Given the description of an element on the screen output the (x, y) to click on. 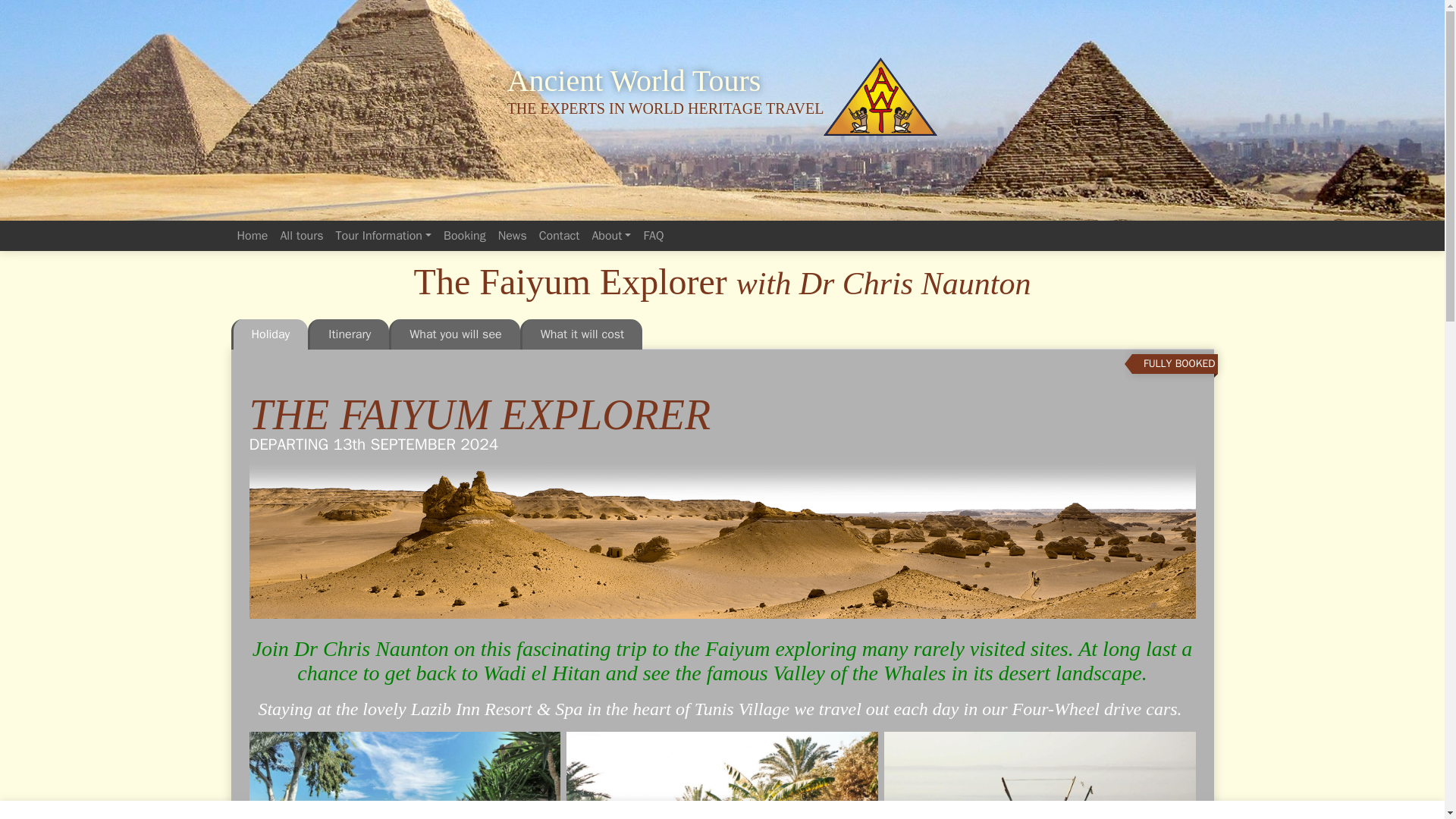
Contact (559, 235)
Itinerary (347, 334)
Home (251, 235)
FAQ (653, 235)
Home (251, 235)
News (512, 235)
Tour Information (384, 235)
Ancient World Tours Home Page (880, 96)
All tours (301, 235)
Booking (465, 235)
Contact (559, 235)
About (611, 235)
What it will cost (581, 334)
Holiday (268, 334)
About (611, 235)
